Given the description of an element on the screen output the (x, y) to click on. 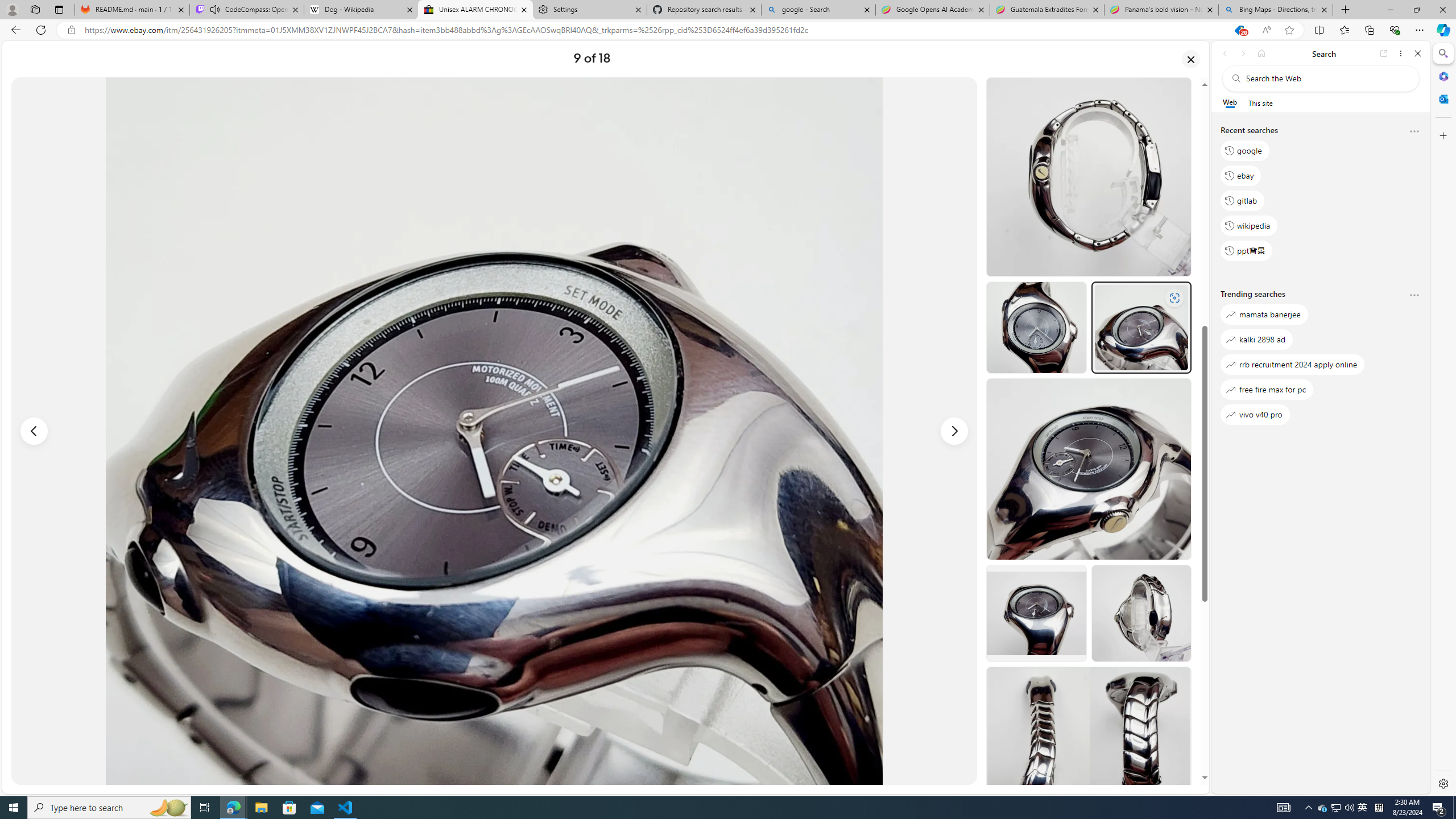
Previous image - Item images thumbnails (34, 430)
Google Opens AI Academy for Startups - Nearshore Americas (932, 9)
free fire max for pc (1266, 389)
